Given the description of an element on the screen output the (x, y) to click on. 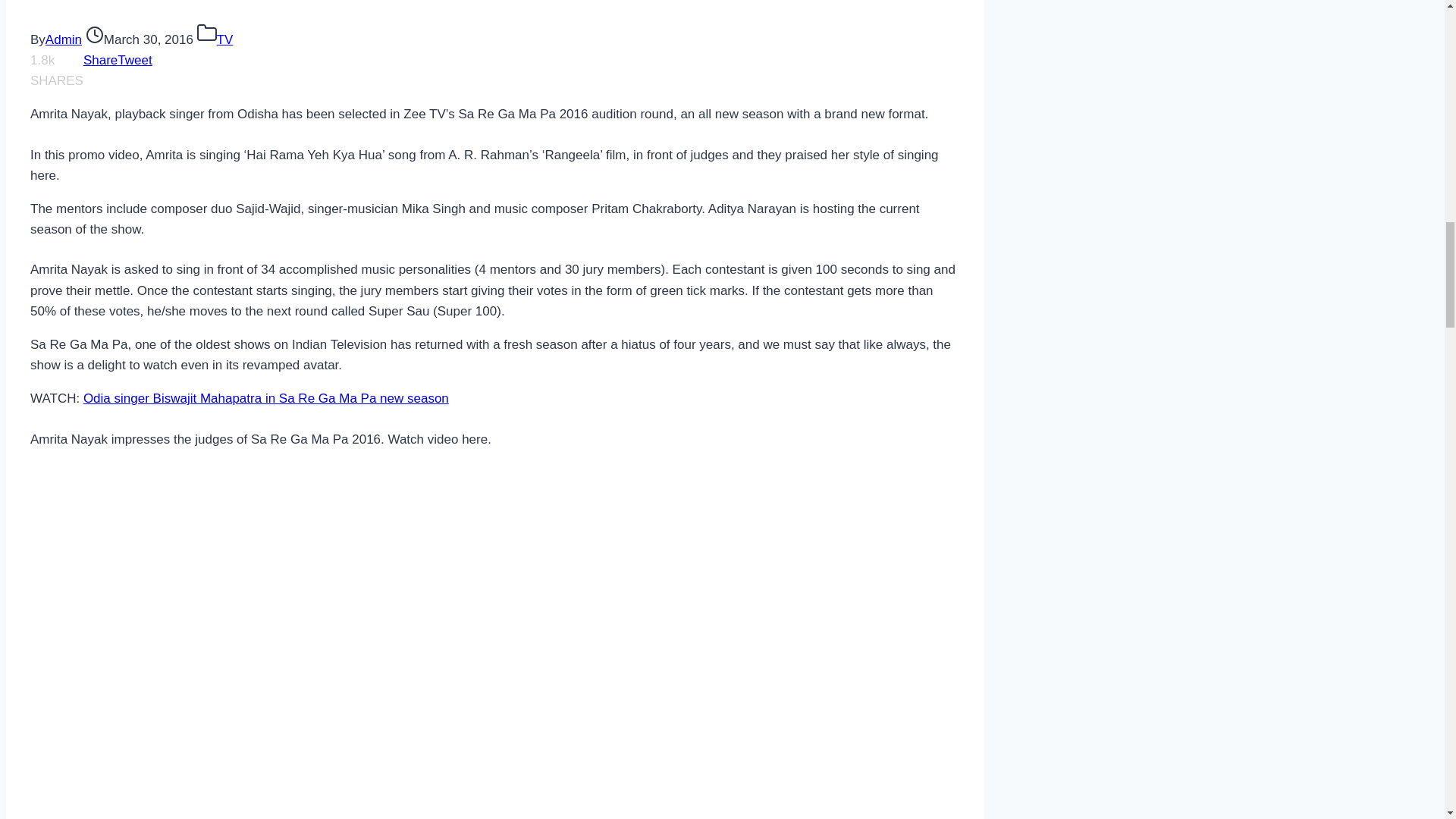
Odia singer Biswajit Mahapatra in Sa Re Ga Ma Pa new season (265, 398)
Tweet (134, 60)
Admin (63, 39)
Hours (94, 34)
Share (99, 60)
TV (224, 39)
Categories (206, 33)
